Given the description of an element on the screen output the (x, y) to click on. 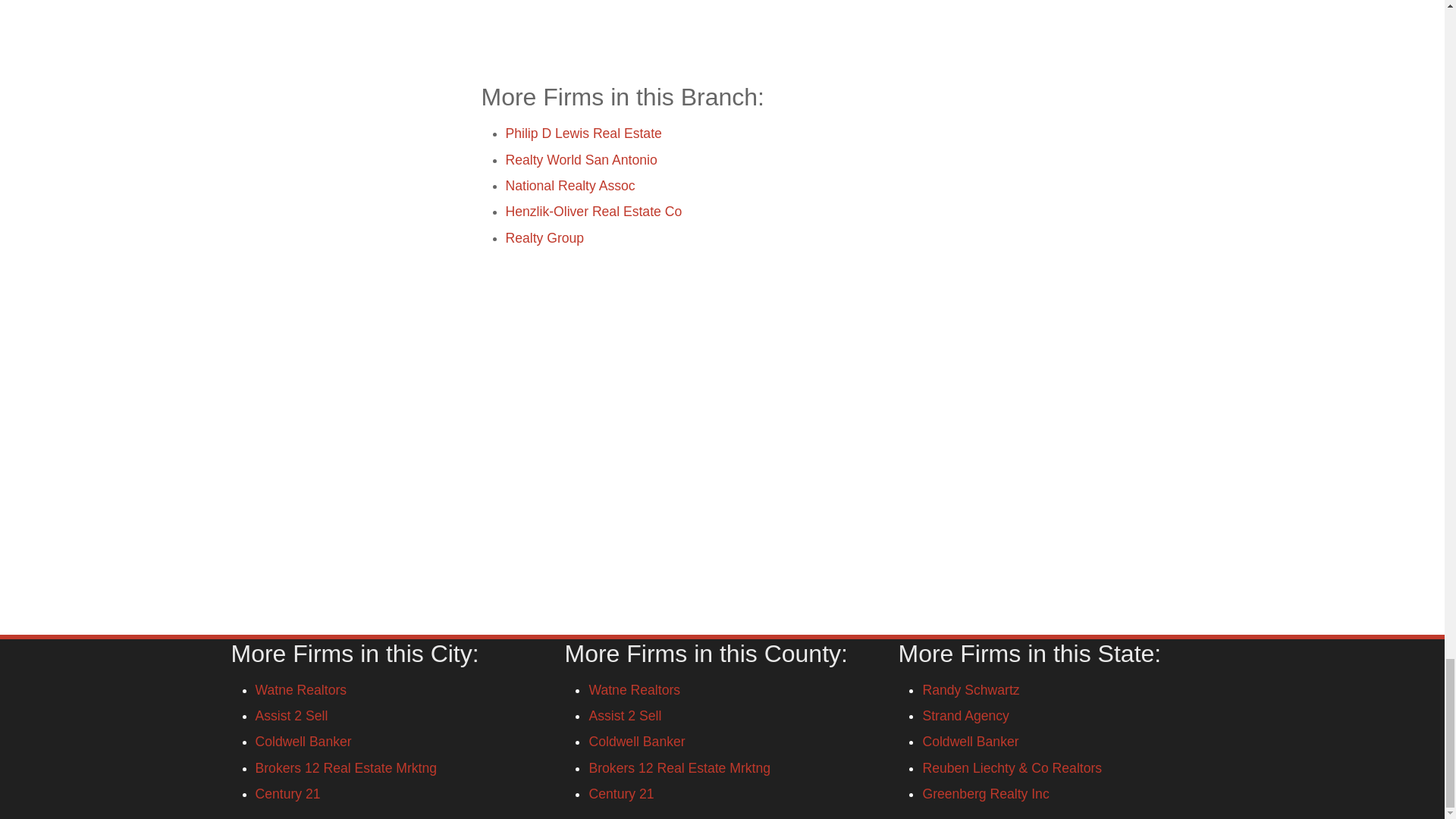
National Realty Assoc (569, 185)
Henzlik-Oliver Real Estate Co (593, 211)
Philip D Lewis Real Estate (583, 133)
Realty Group (544, 237)
Realty World San Antonio (580, 159)
